Given the description of an element on the screen output the (x, y) to click on. 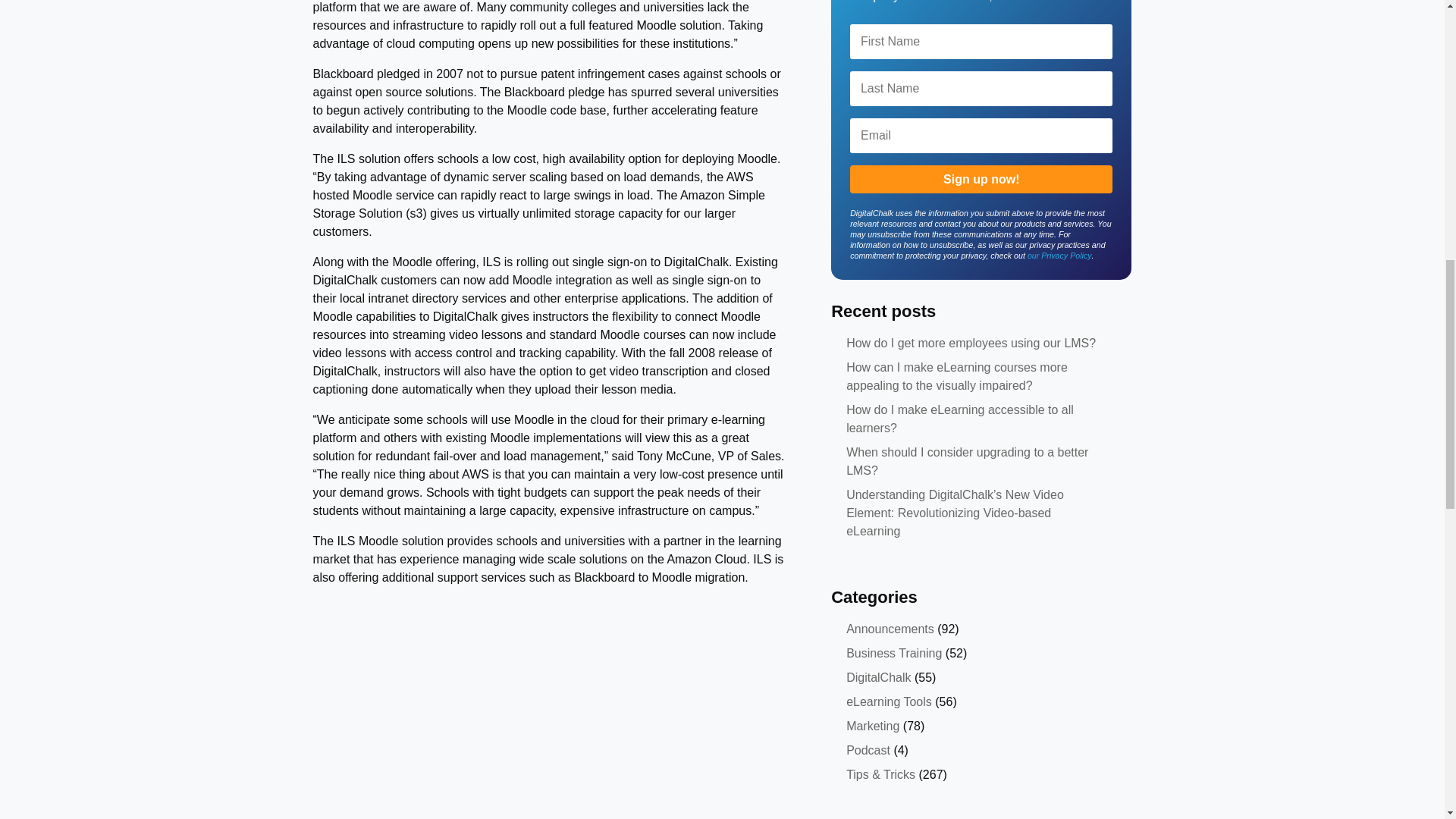
DigitalChalk's Privacy Policy (1059, 255)
